Given the description of an element on the screen output the (x, y) to click on. 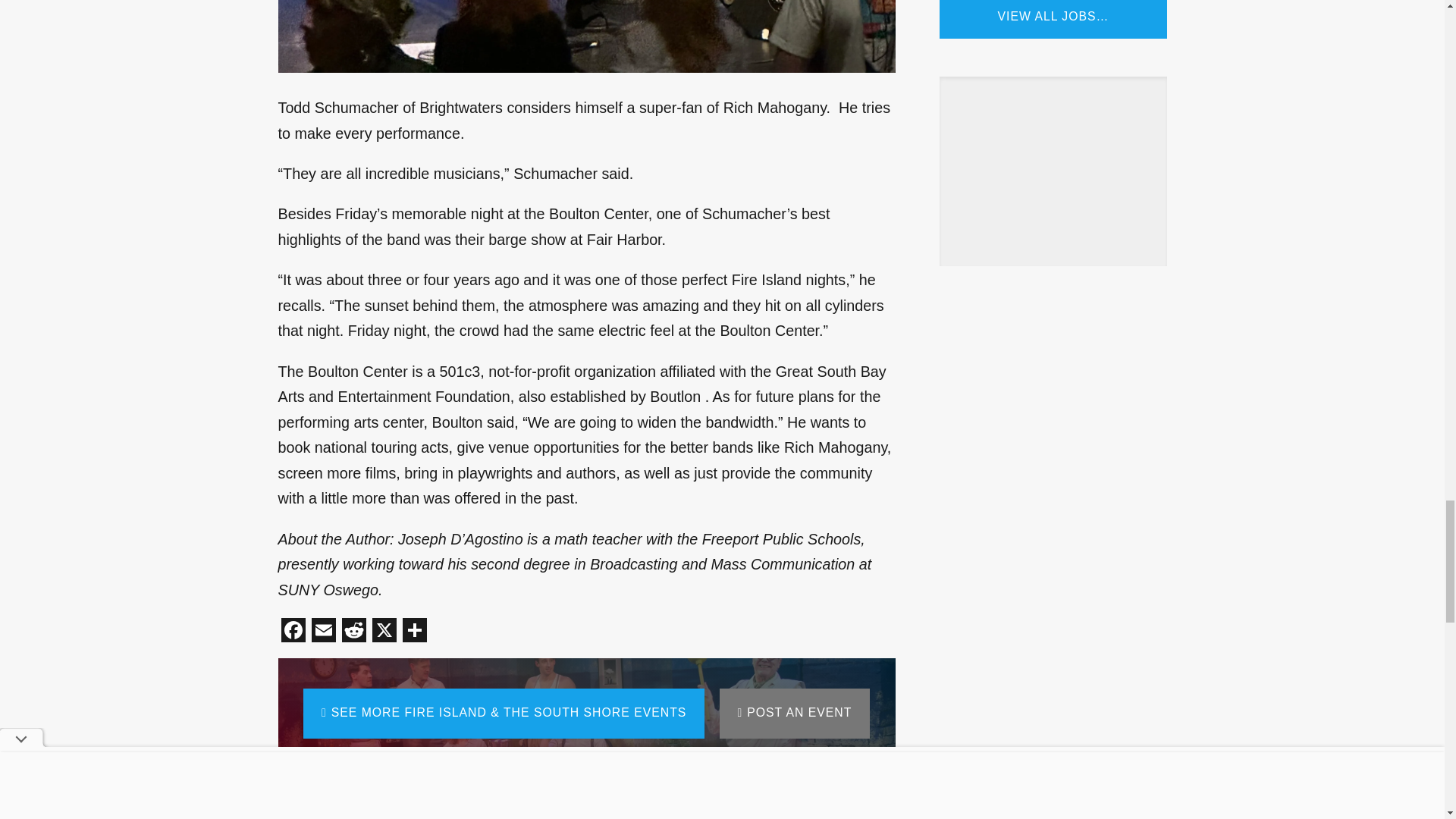
Email (322, 632)
X (383, 632)
Facebook (292, 632)
Reddit (352, 632)
